Given the description of an element on the screen output the (x, y) to click on. 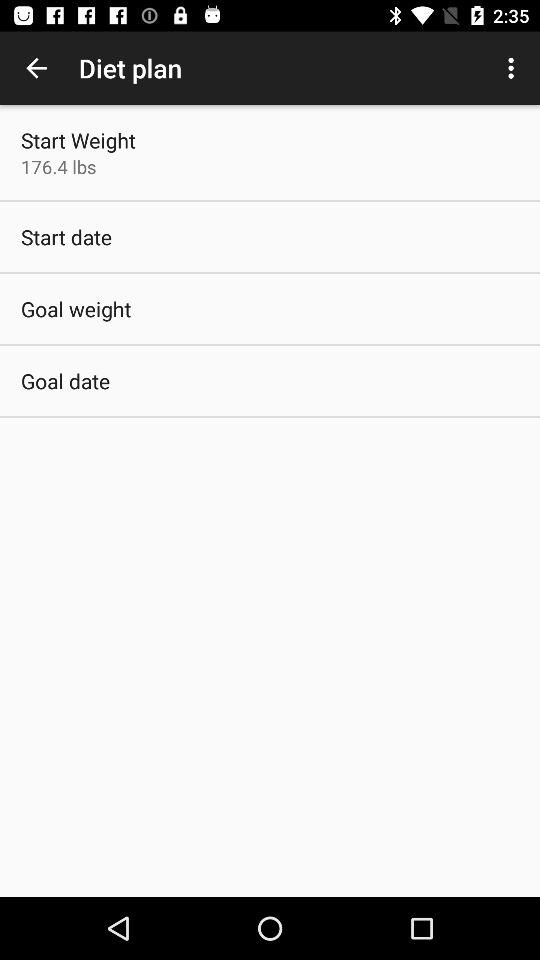
open item below the start date app (76, 308)
